Given the description of an element on the screen output the (x, y) to click on. 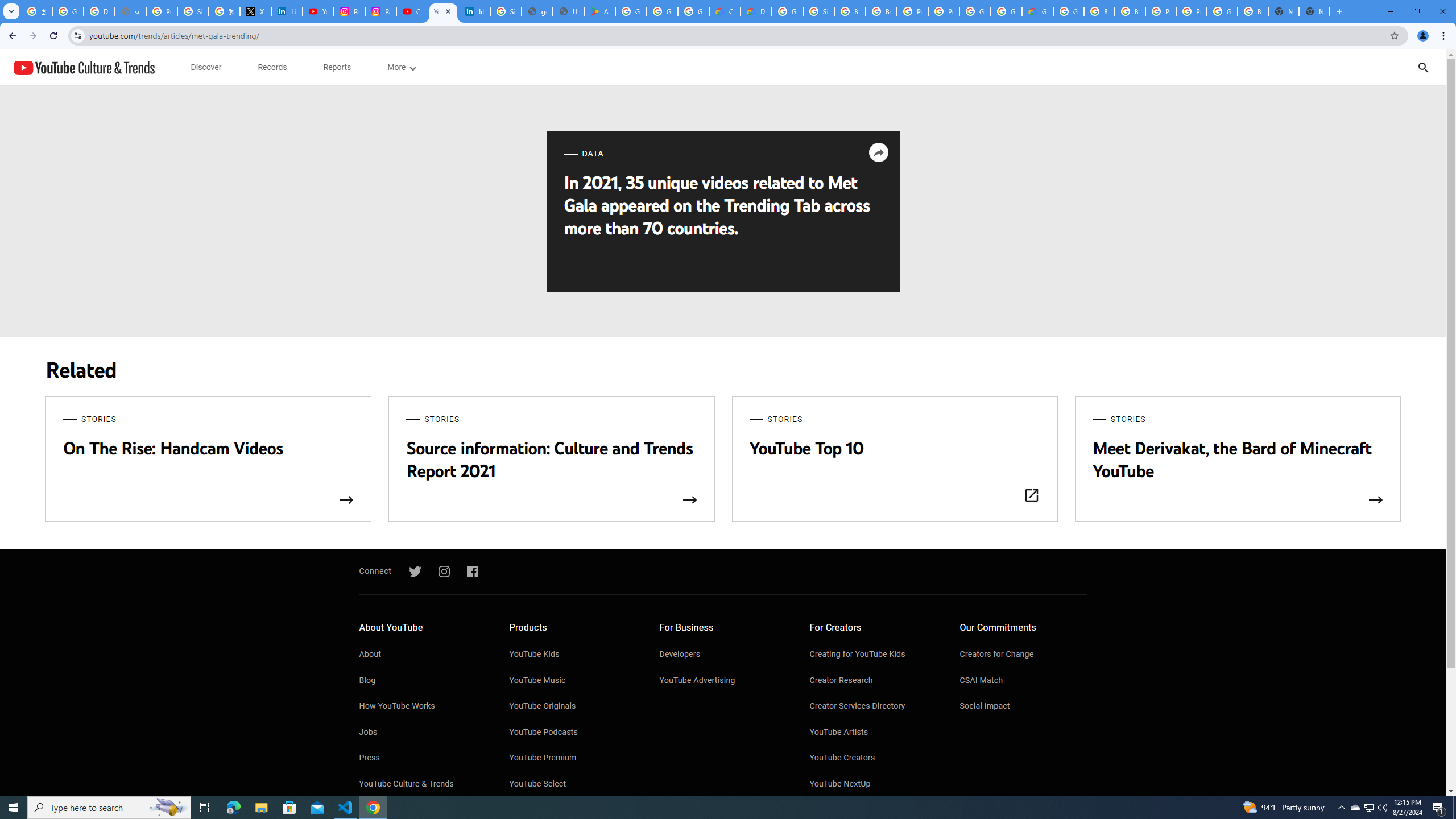
Google Cloud Platform (974, 11)
Developers (723, 655)
YouTube Music (573, 681)
Blog (422, 681)
Browse Chrome as a guest - Computer - Google Chrome Help (849, 11)
JUMP TO CONTENT (118, 67)
YouTube Originals (573, 706)
